Given the description of an element on the screen output the (x, y) to click on. 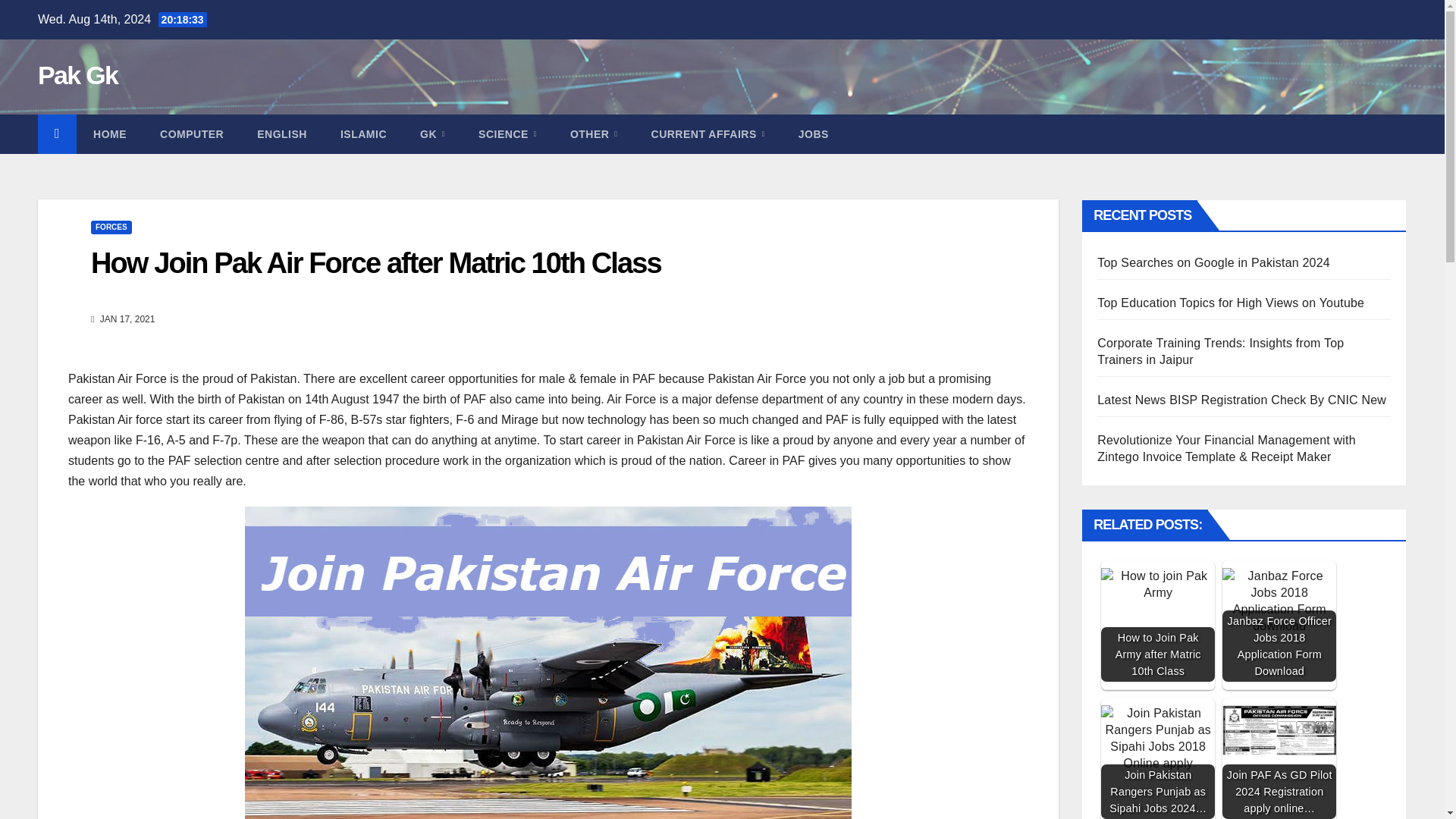
How Join Pak Air Force after Matric 10th Class (375, 263)
Pak Gk (77, 74)
COMPUTER (191, 133)
GK (432, 133)
HOME (109, 133)
Computer (191, 133)
CURRENT AFFAIRS (707, 133)
JOBS (813, 133)
OTHER (593, 133)
Science (507, 133)
